Given the description of an element on the screen output the (x, y) to click on. 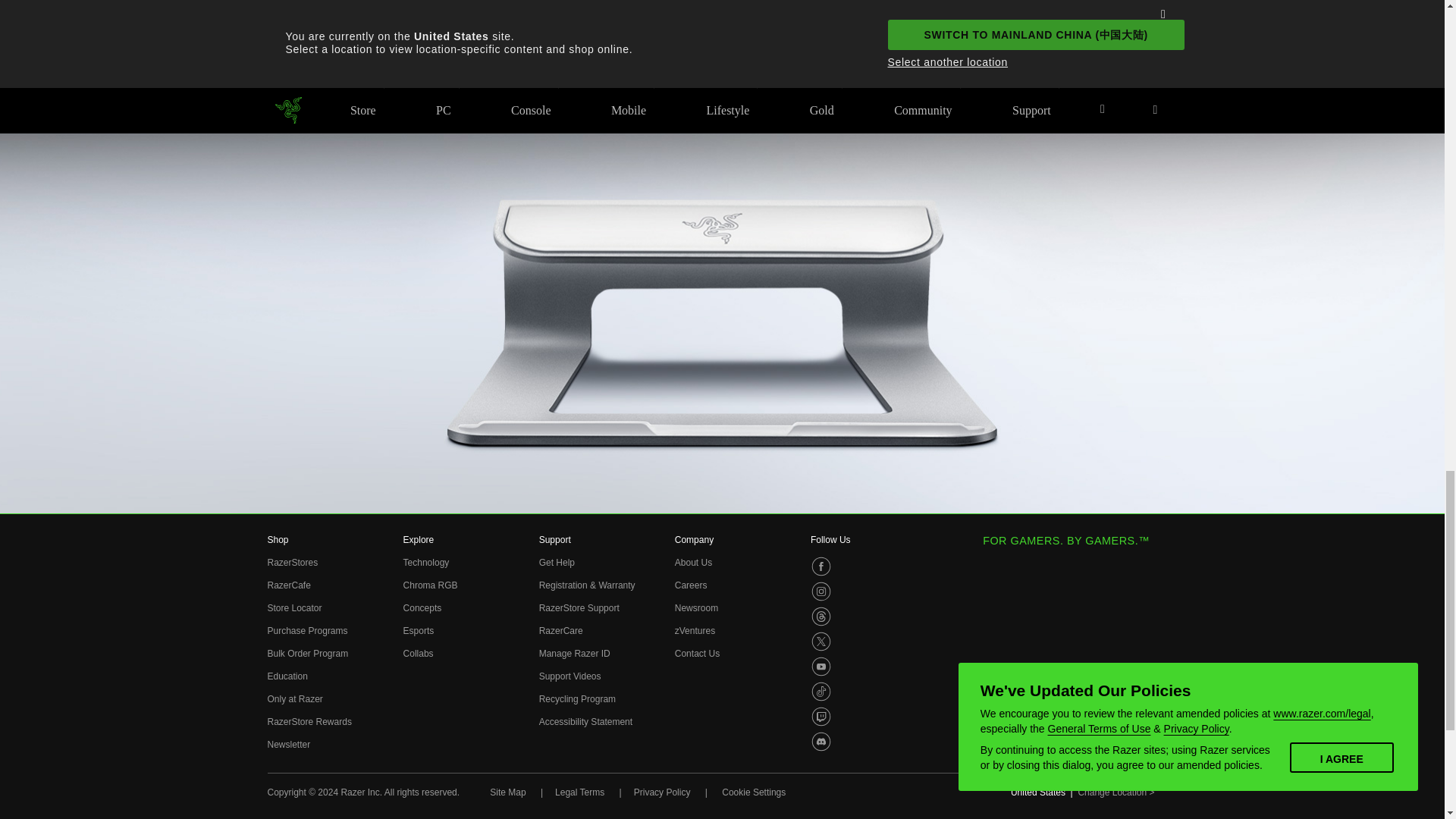
X (820, 640)
TikTok (820, 690)
YouTube (820, 666)
Discord (820, 741)
Threads (820, 616)
Facebook (820, 566)
Instagram (820, 590)
Twitch (820, 716)
